Given the description of an element on the screen output the (x, y) to click on. 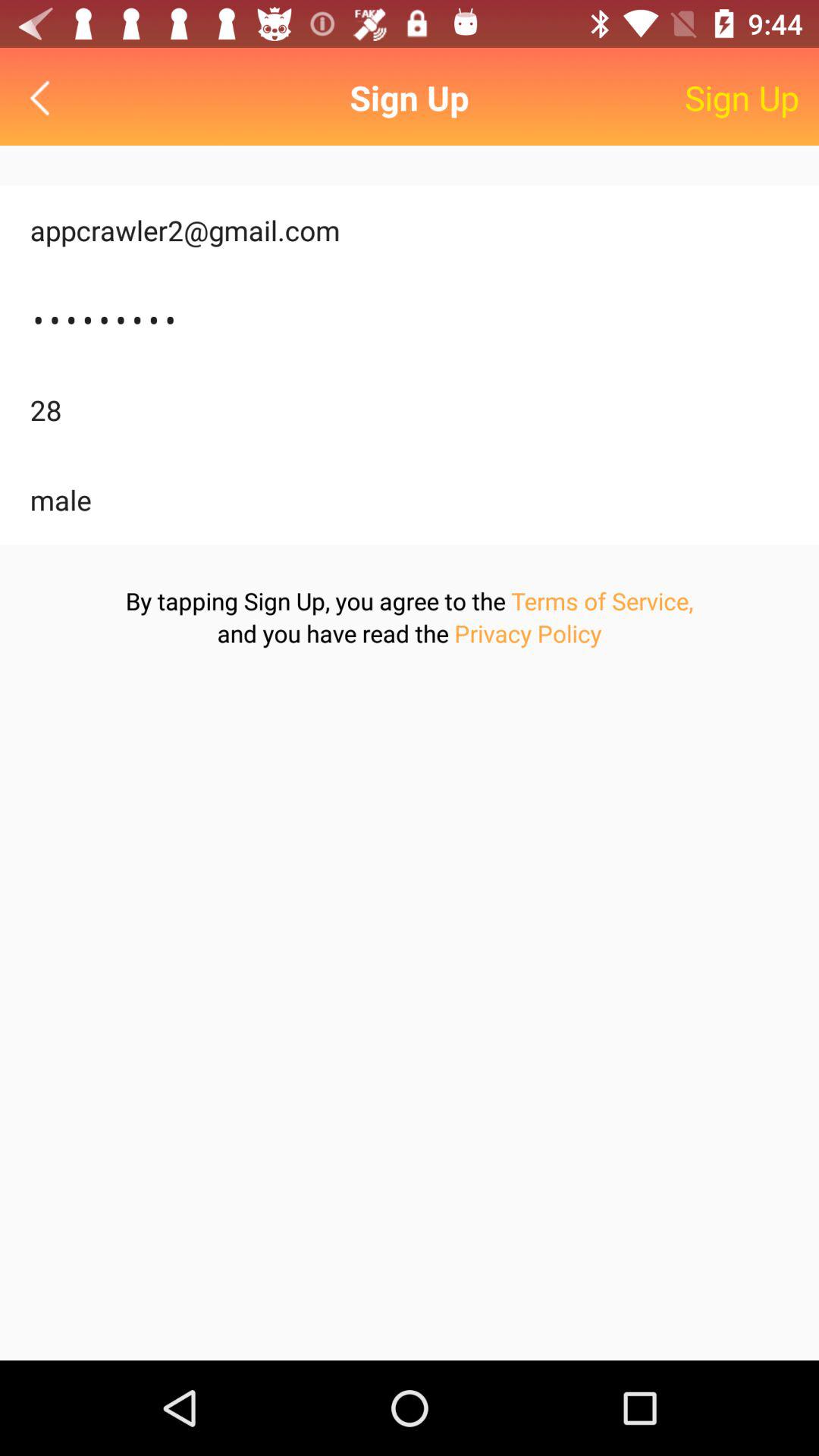
go back (43, 97)
